Given the description of an element on the screen output the (x, y) to click on. 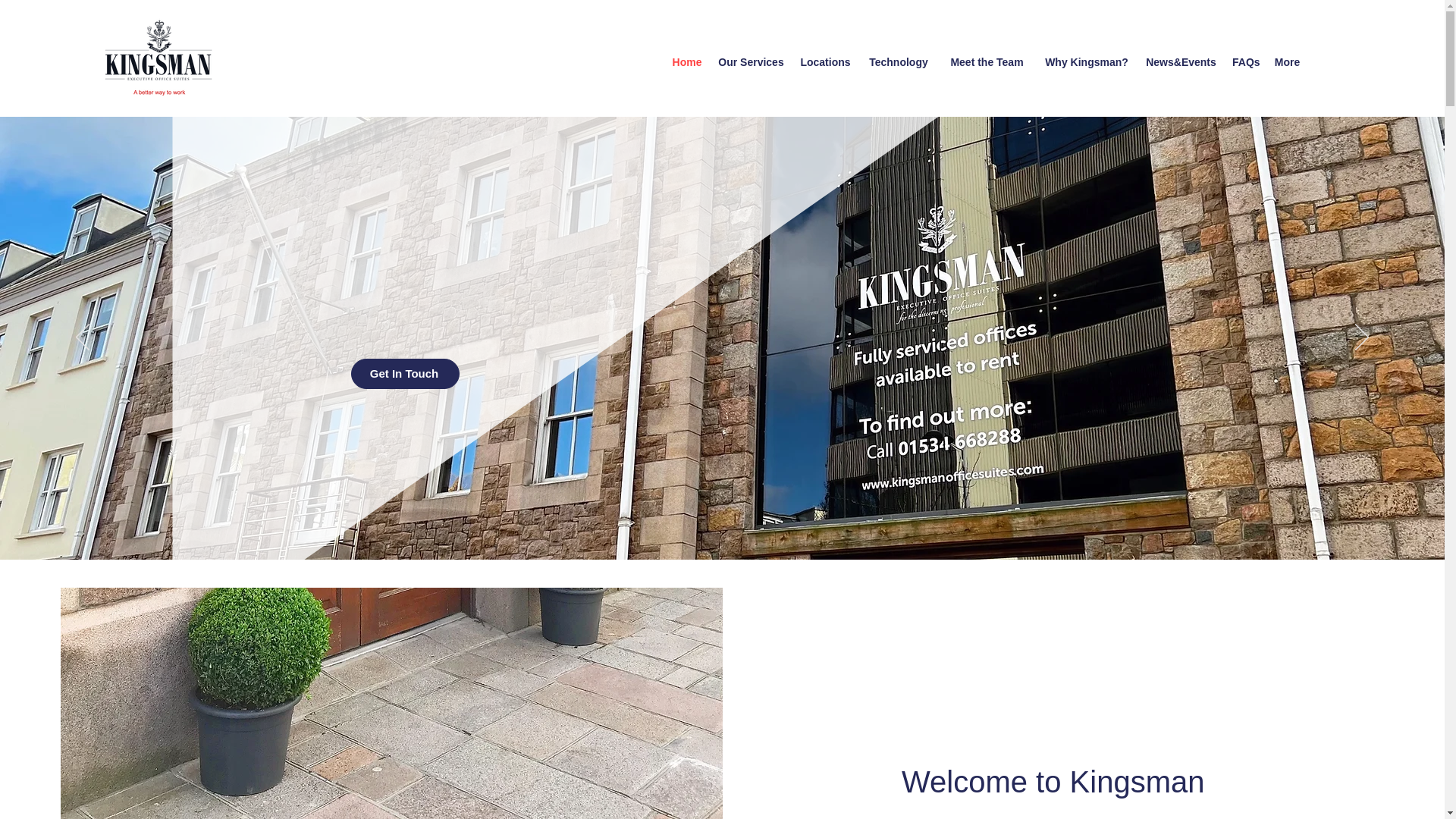
Locations (825, 62)
Why Kingsman? (1086, 62)
Technology (898, 62)
Our Services (751, 62)
Home (686, 62)
Meet the Team (986, 62)
Get In Touch (404, 373)
FAQs (1245, 62)
